Given the description of an element on the screen output the (x, y) to click on. 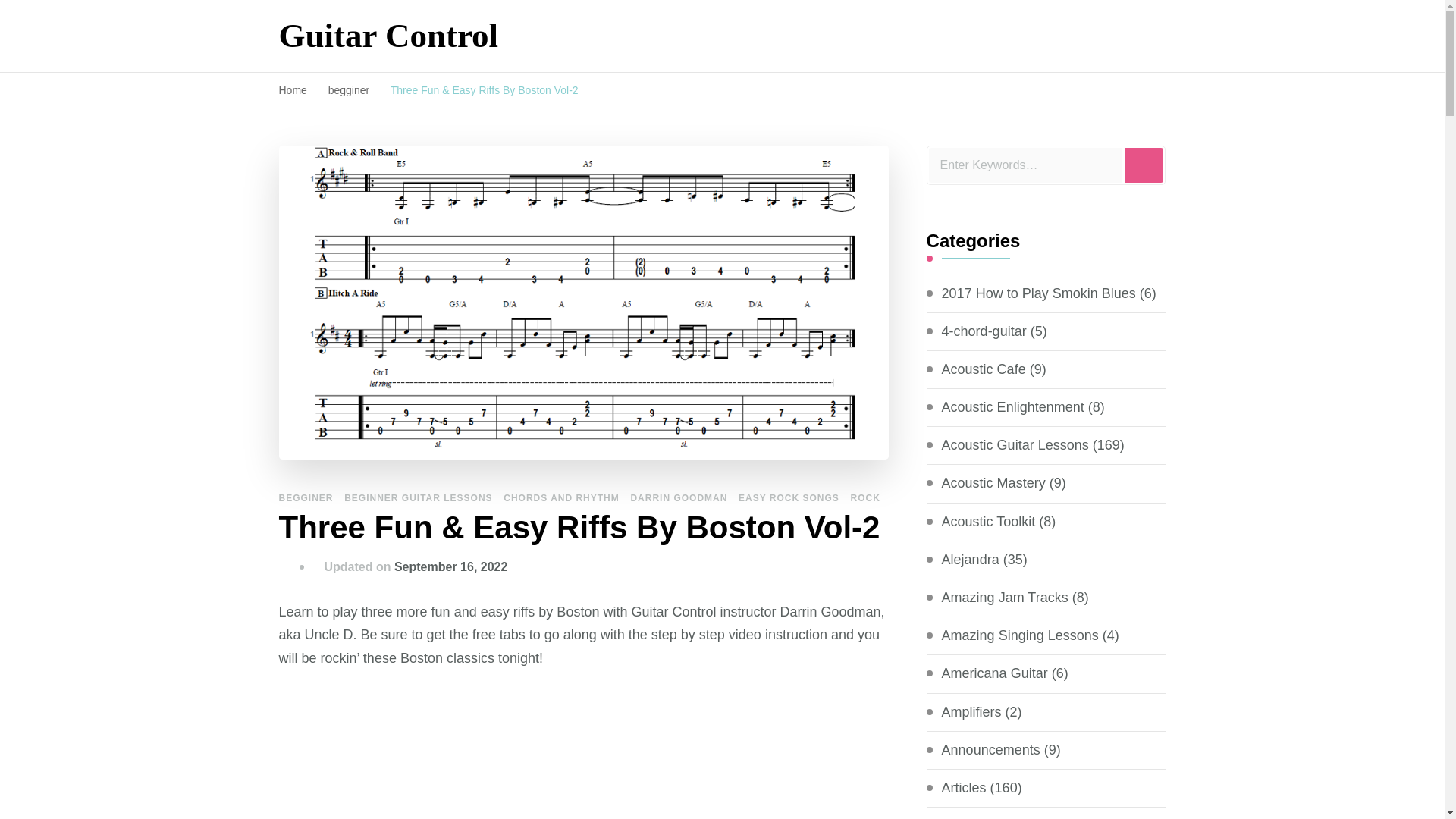
BEGINNER GUITAR LESSONS (417, 498)
Acoustic Toolkit (988, 521)
September 16, 2022 (450, 566)
Acoustic Guitar Lessons (1015, 445)
EASY ROCK SONGS (789, 498)
Home (293, 90)
DARRIN GOODMAN (678, 498)
4-chord-guitar (984, 331)
Acoustic Cafe (984, 369)
begginer (350, 90)
